Given the description of an element on the screen output the (x, y) to click on. 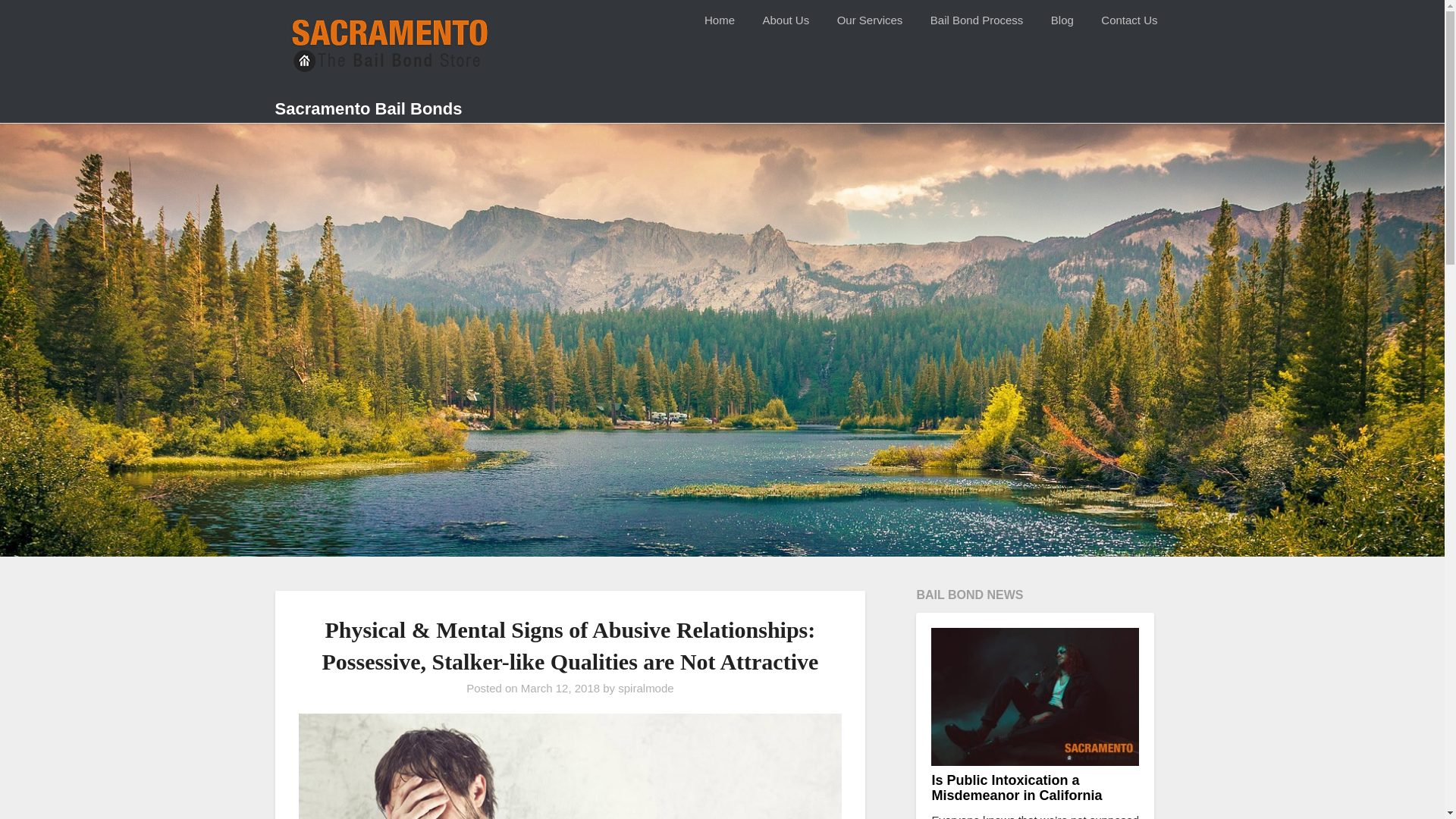
March 12, 2018 (560, 687)
Contact Us (1129, 20)
Blog (1062, 20)
Sacramento Bail Bonds (368, 108)
Home (719, 20)
spiralmode (644, 687)
Is Public Intoxication a Misdemeanor in California (1016, 788)
About Us (785, 20)
Bail Bond Process (976, 20)
Our Services (870, 20)
